Given the description of an element on the screen output the (x, y) to click on. 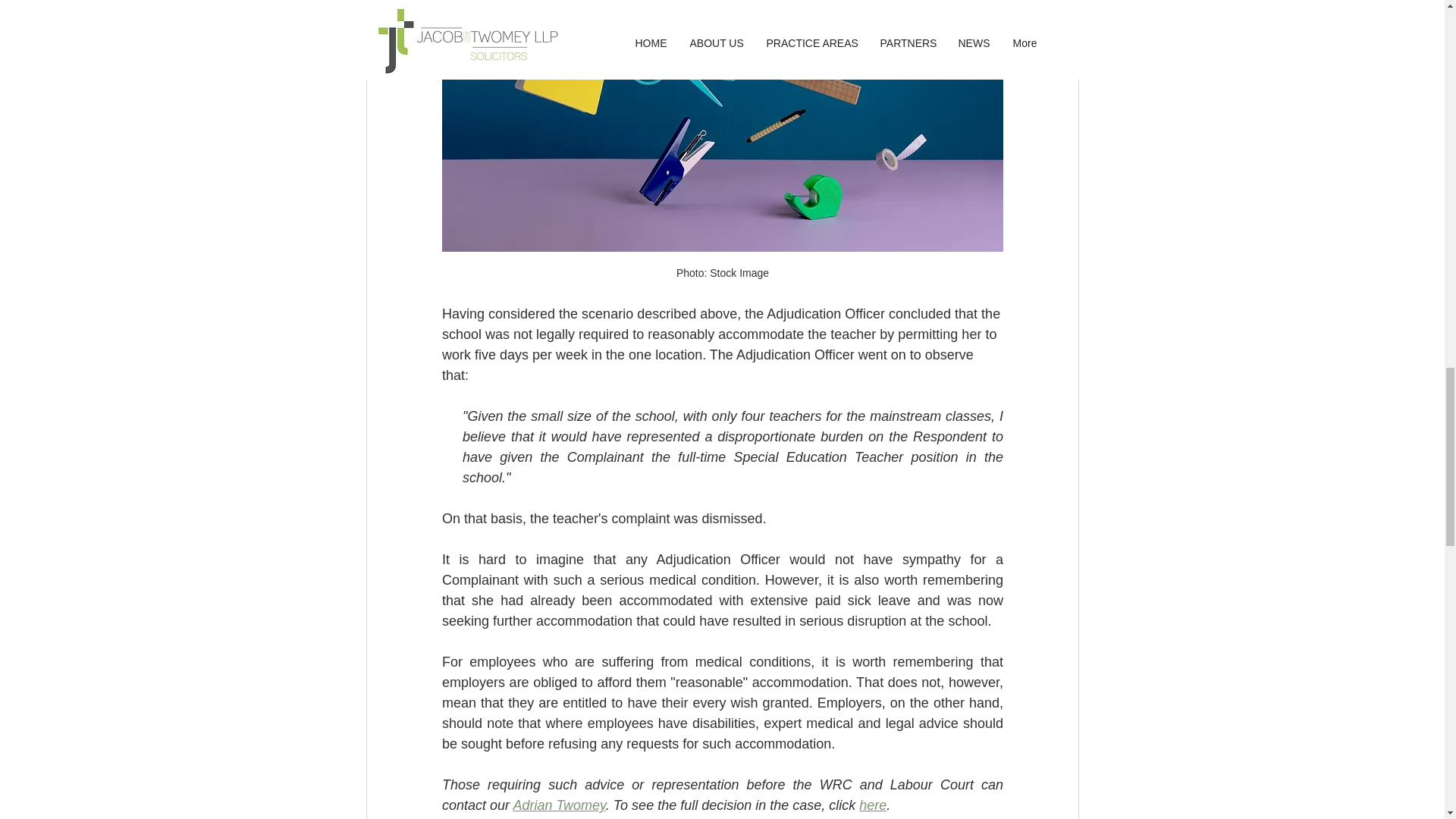
Adrian Twomey (558, 805)
